Given the description of an element on the screen output the (x, y) to click on. 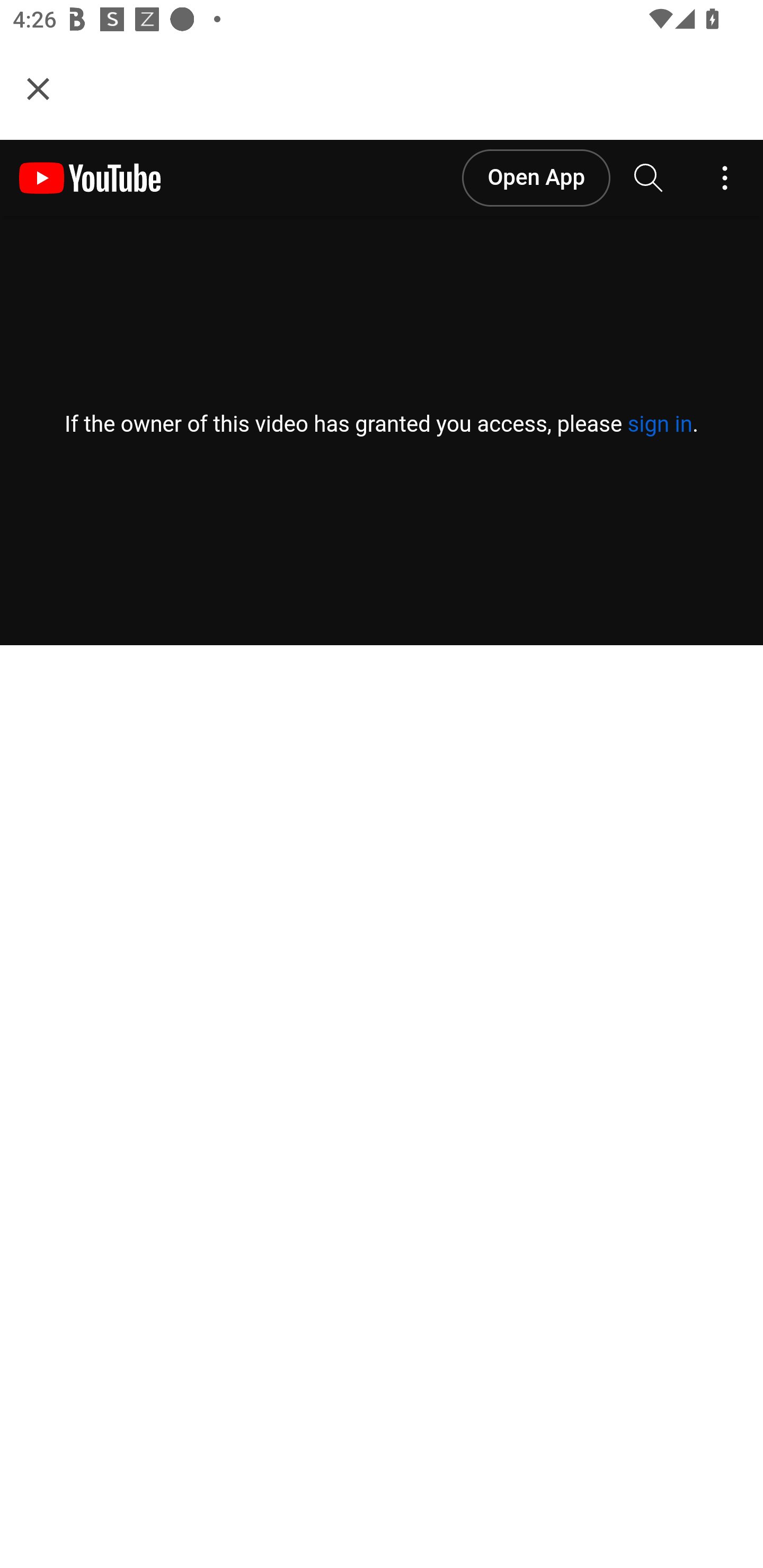
Close (38, 88)
YouTube (89, 177)
Search YouTube (648, 177)
Account (724, 177)
Open App (535, 177)
sign in (659, 424)
